Given the description of an element on the screen output the (x, y) to click on. 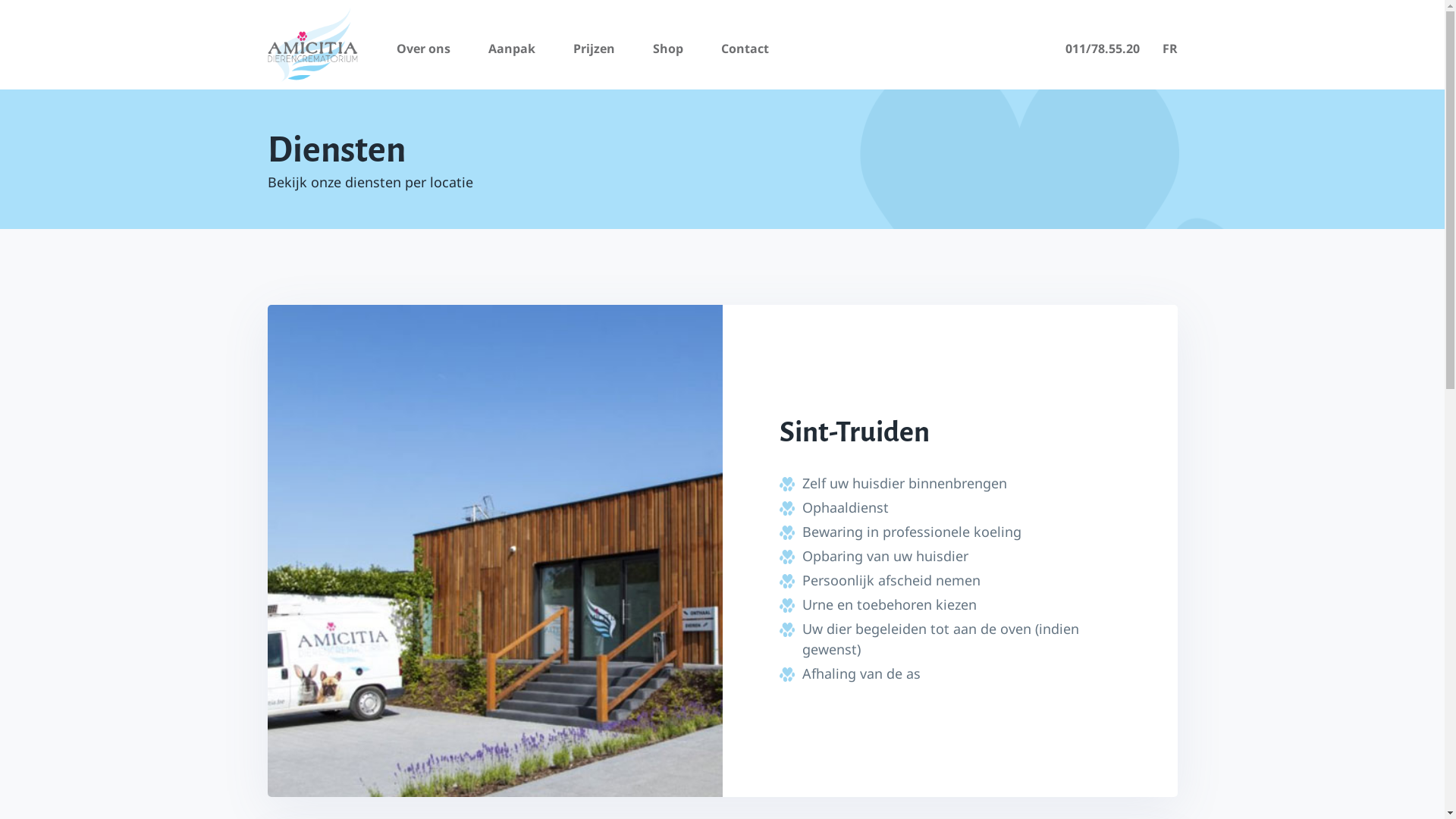
Prijzen Element type: text (594, 48)
Aanpak Element type: text (511, 48)
Shop Element type: text (667, 48)
Over ons Element type: text (422, 48)
Amicitia dierencrematorium Element type: text (311, 44)
011/78.55.20 Element type: text (1101, 48)
Contact Element type: text (744, 48)
FR Element type: text (1168, 48)
